Given the description of an element on the screen output the (x, y) to click on. 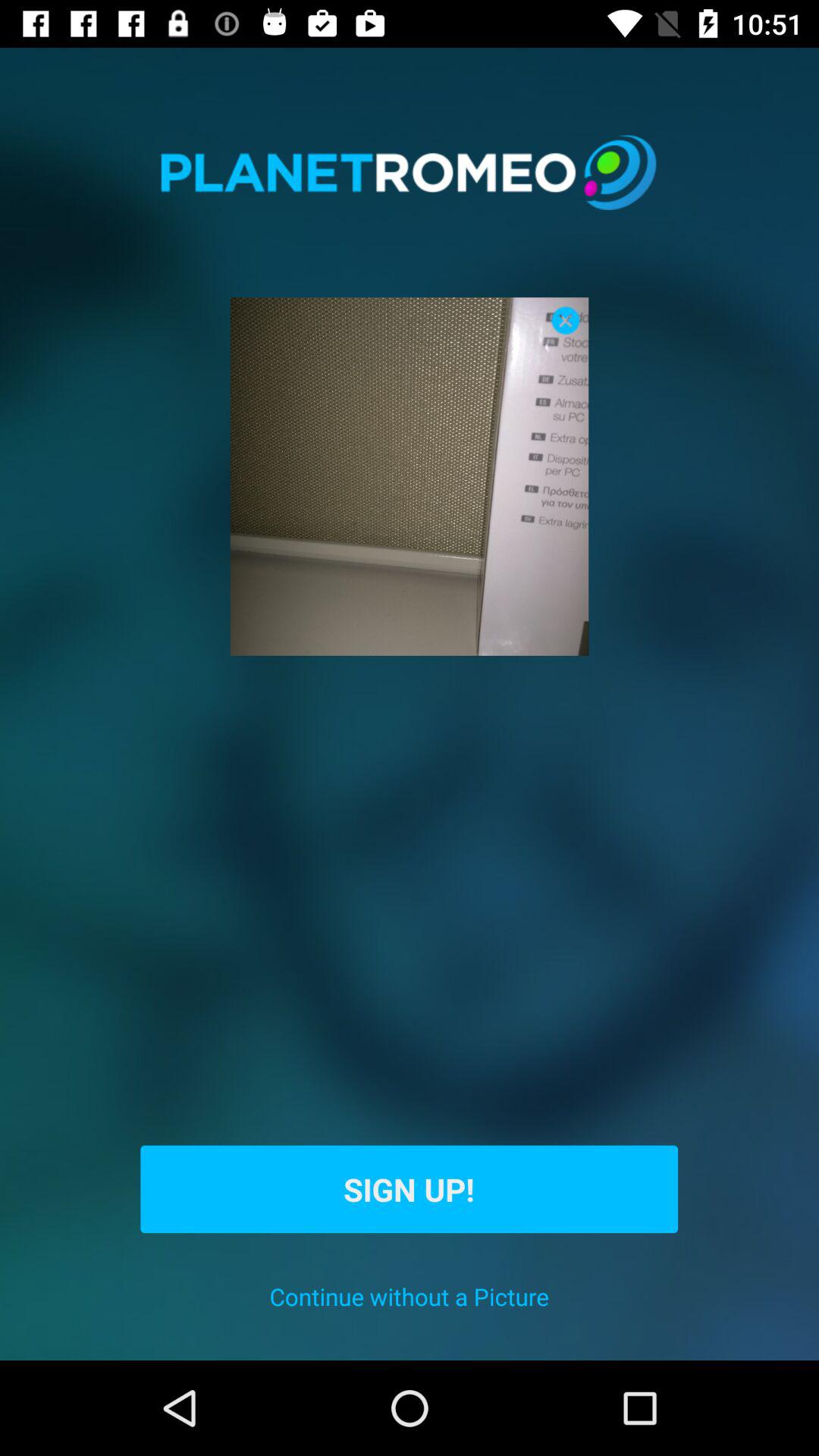
press icon below the sign up! icon (408, 1296)
